Given the description of an element on the screen output the (x, y) to click on. 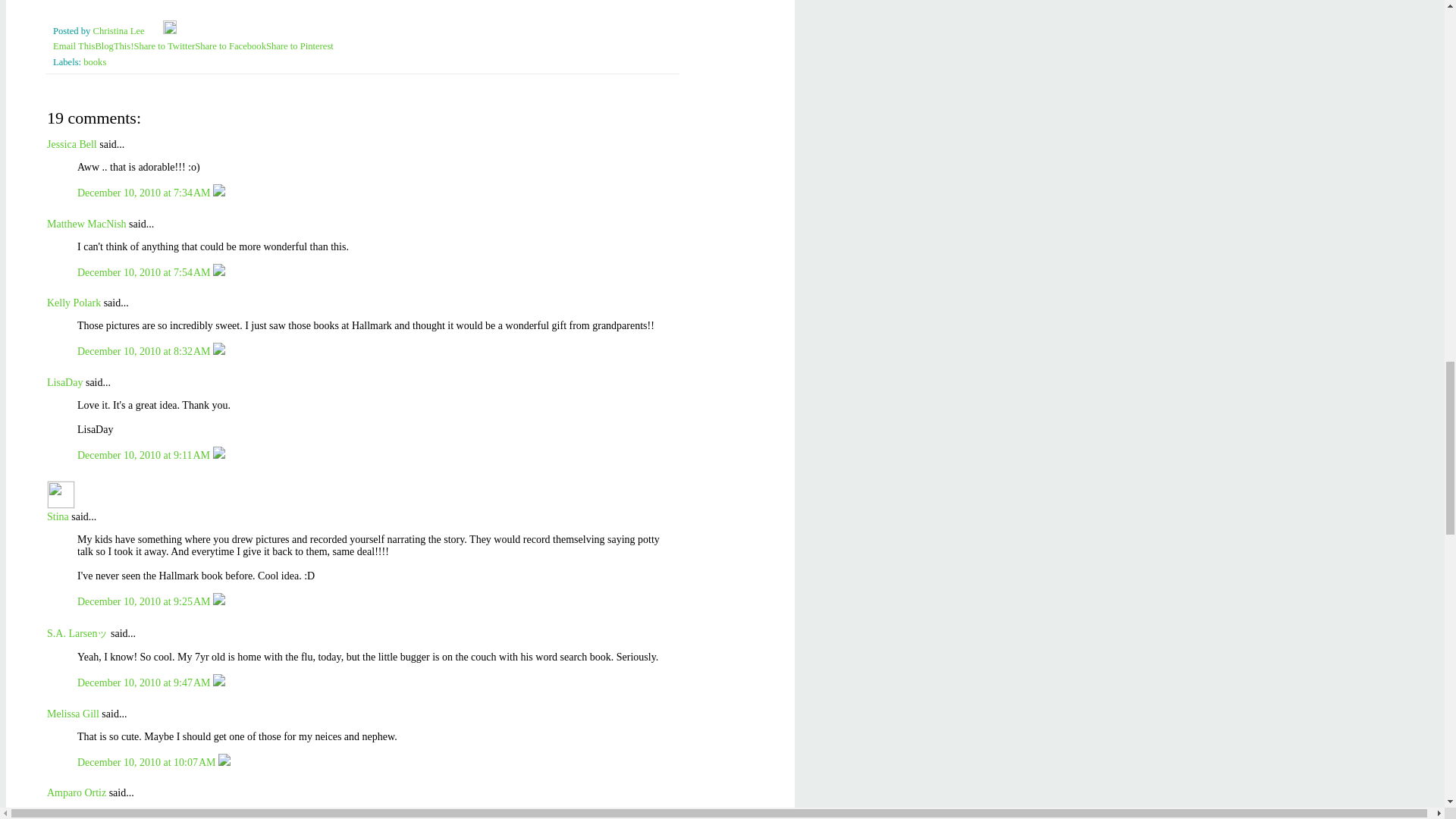
Email Post (155, 30)
Share to Pinterest (299, 45)
Share to Pinterest (299, 45)
Share to Twitter (164, 45)
comment permalink (144, 193)
books (94, 61)
Edit Post (169, 30)
BlogThis! (113, 45)
Email This (73, 45)
author profile (120, 30)
Delete Comment (218, 193)
Kelly Polark (73, 302)
comment permalink (144, 272)
